Given the description of an element on the screen output the (x, y) to click on. 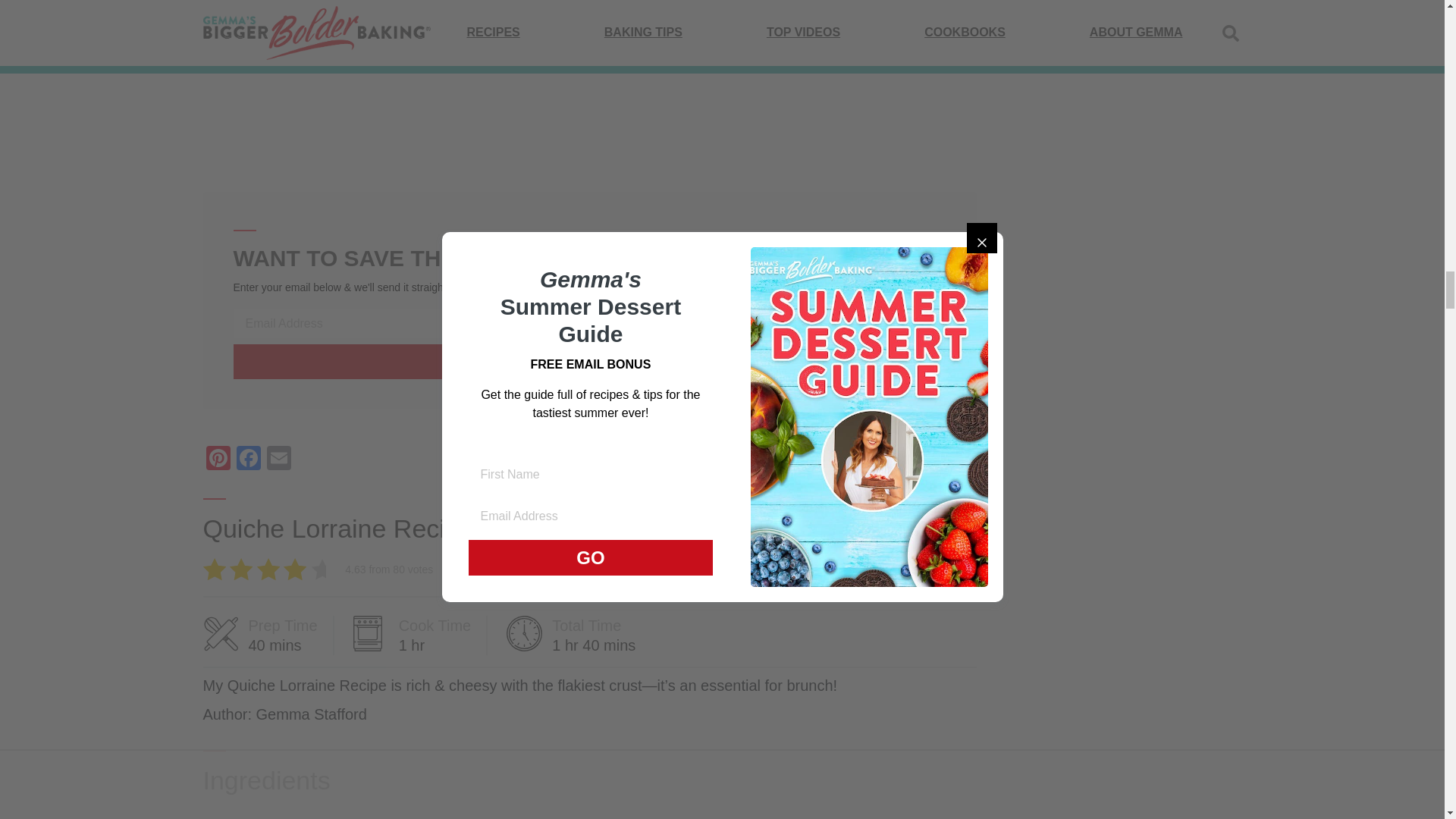
Pinterest (217, 459)
Email (278, 459)
Facebook (247, 459)
